Given the description of an element on the screen output the (x, y) to click on. 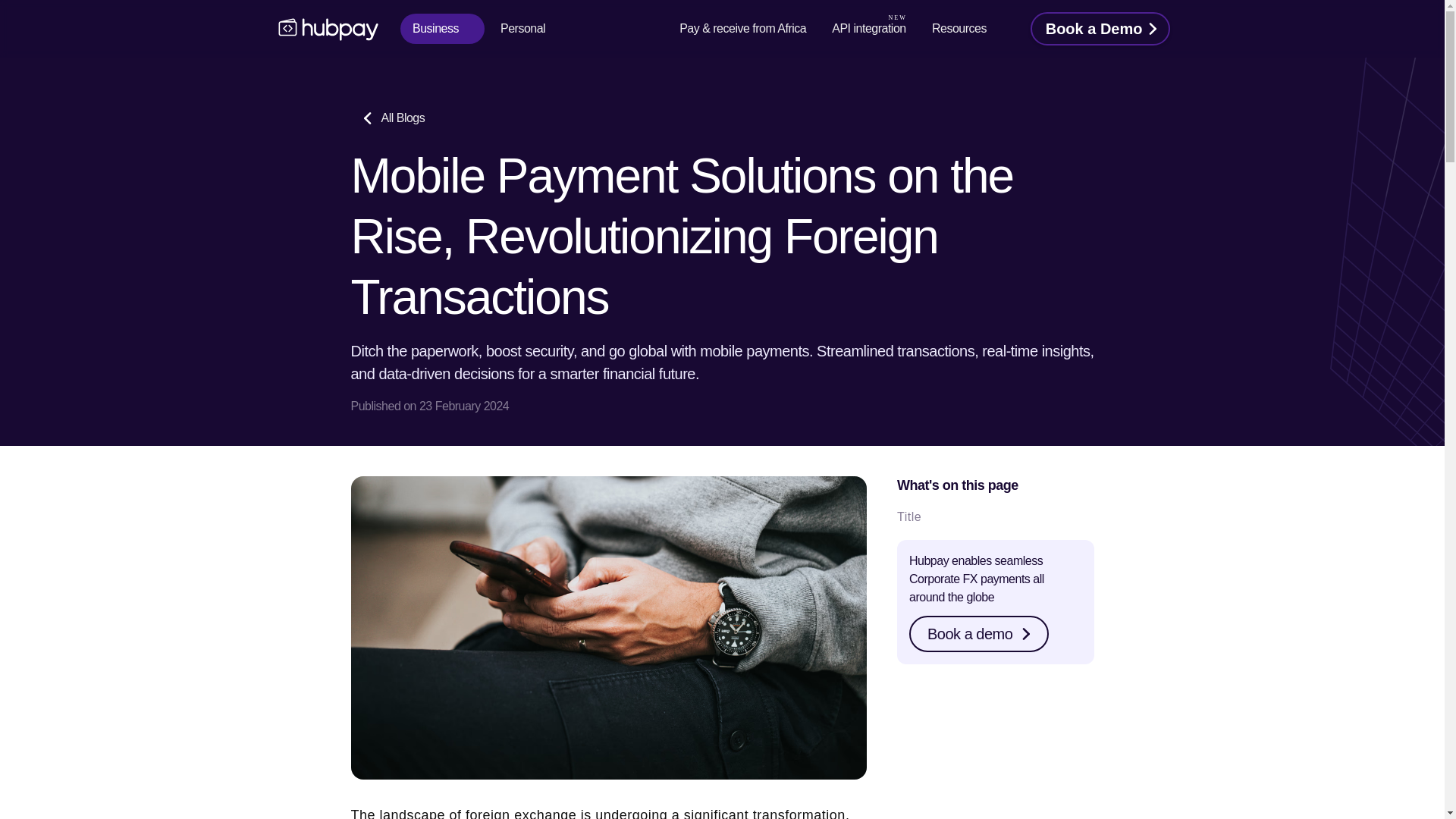
Book a Demo (1100, 28)
Book a demo (978, 633)
API integration (868, 28)
Business (442, 28)
All Blogs (391, 118)
Personal (531, 28)
Resources (967, 28)
Title (994, 517)
